Given the description of an element on the screen output the (x, y) to click on. 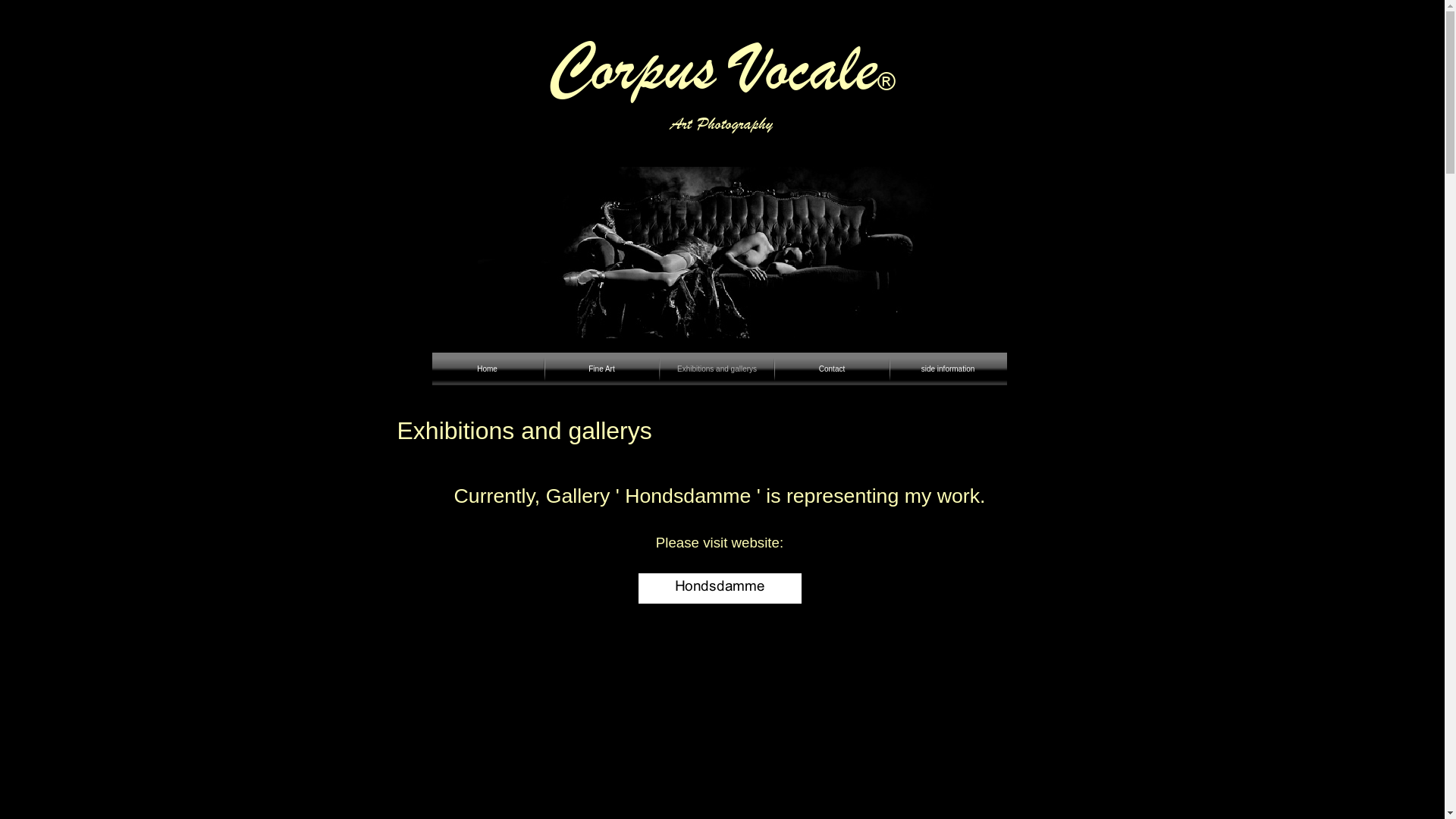
Fine Art Element type: text (600, 368)
Exhibitions and gallerys Element type: text (716, 368)
Home Element type: text (487, 368)
Contact Element type: text (831, 368)
side information Element type: text (946, 368)
